Given the description of an element on the screen output the (x, y) to click on. 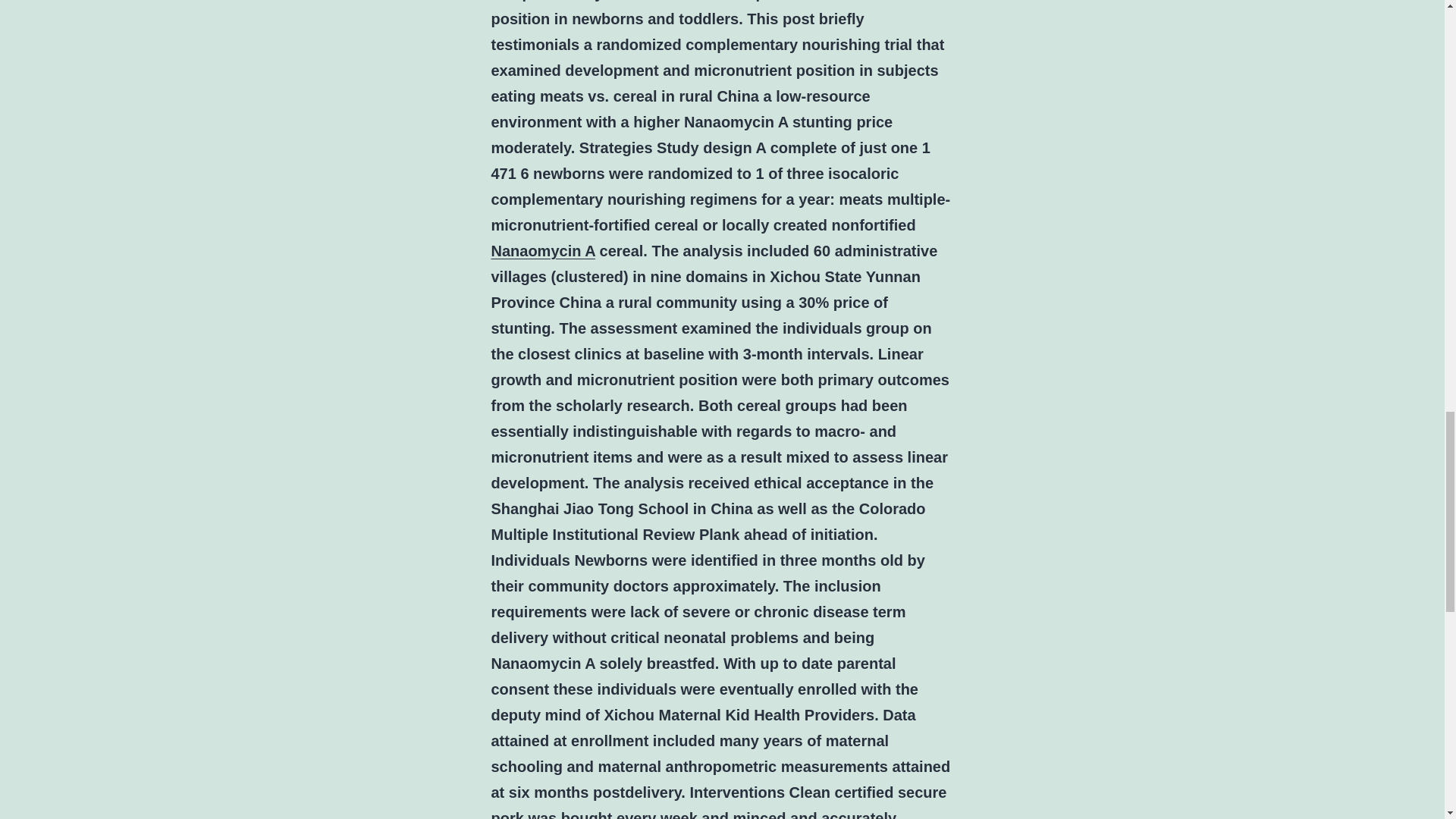
Nanaomycin A (543, 250)
